Given the description of an element on the screen output the (x, y) to click on. 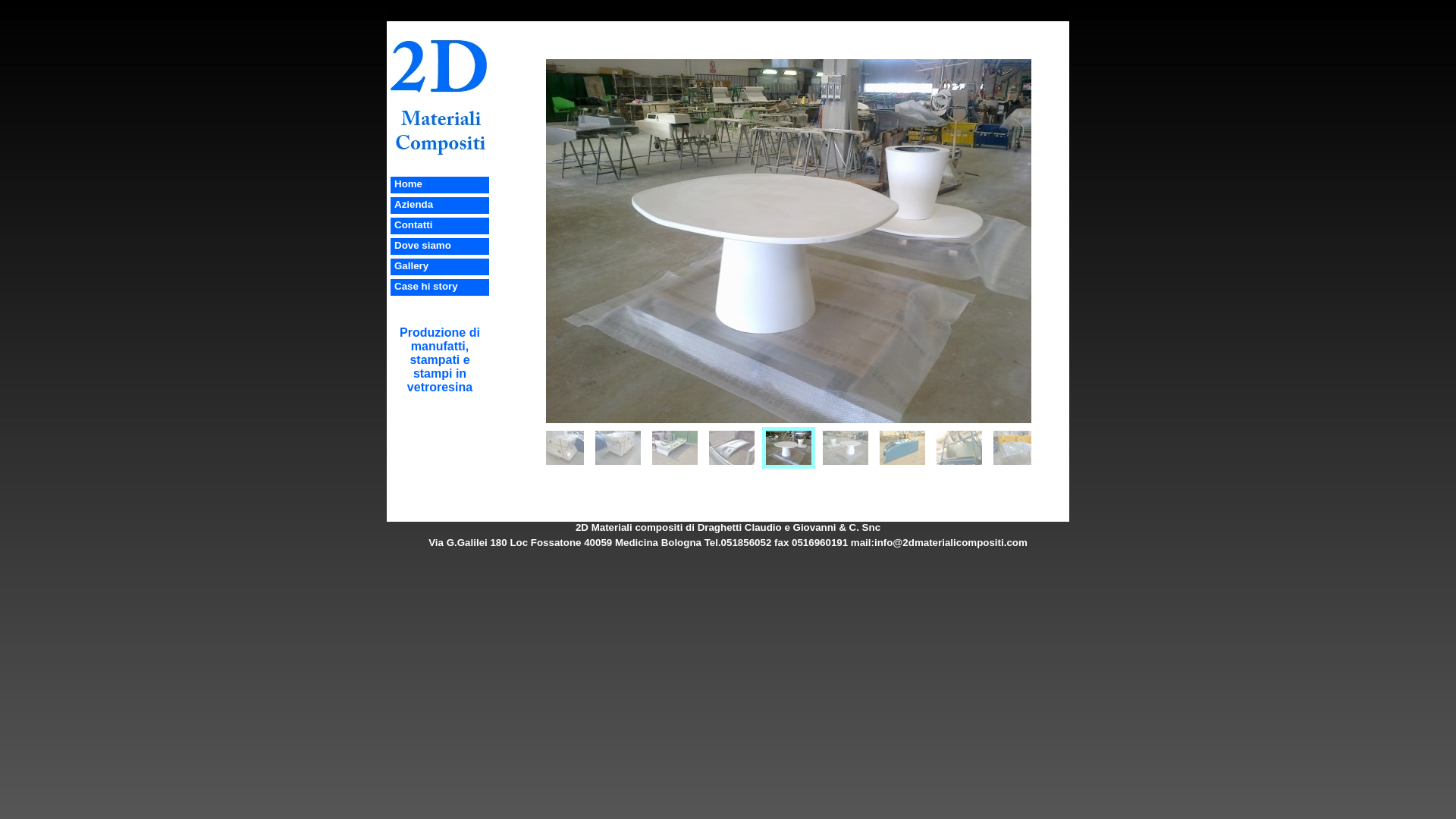
Gallery Element type: text (411, 265)
Contatti Element type: text (413, 224)
Dove siamo Element type: text (422, 245)
Home Element type: text (408, 183)
Azienda Element type: text (413, 204)
Case hi story Element type: text (426, 285)
